Given the description of an element on the screen output the (x, y) to click on. 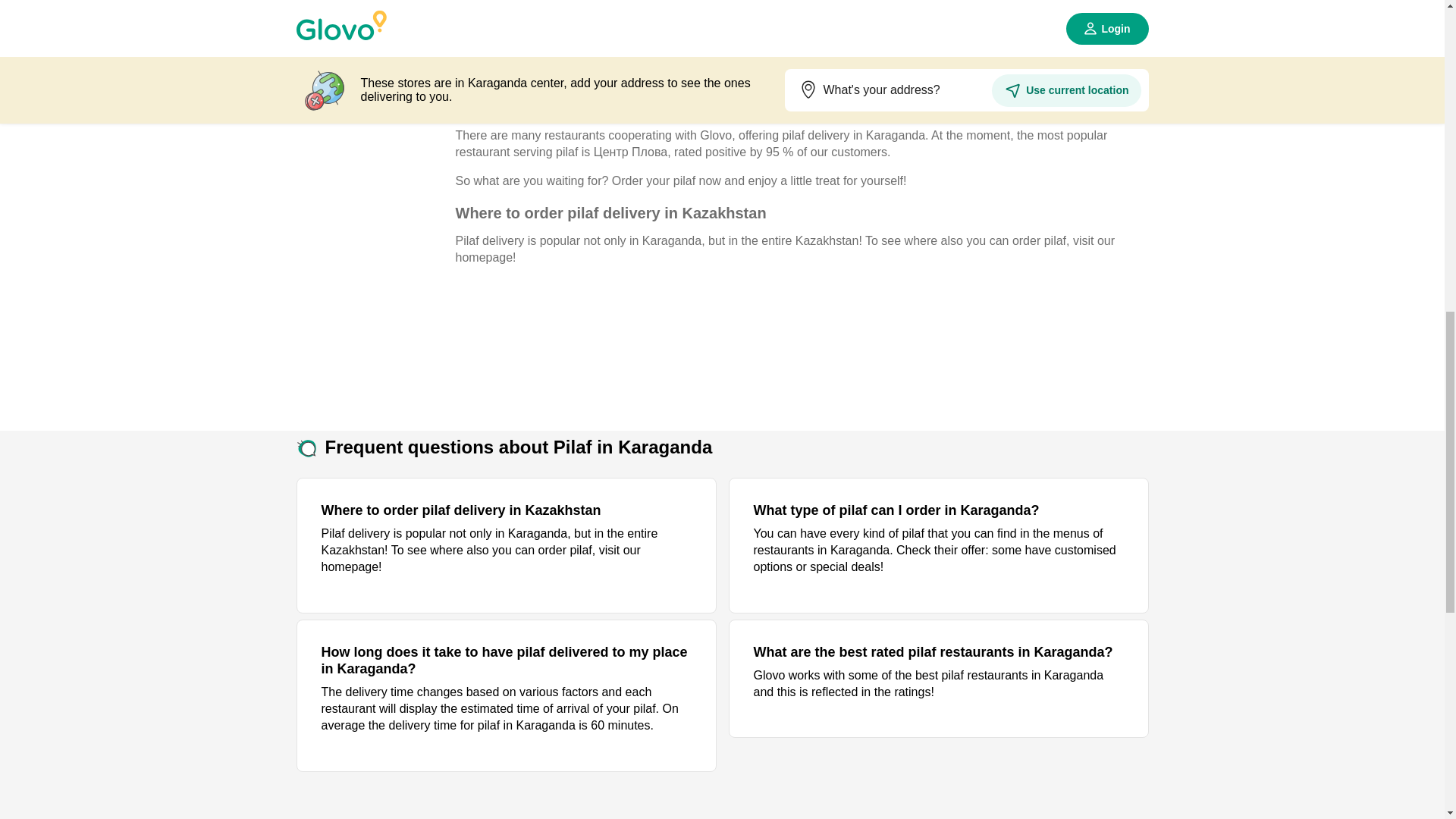
Halal (368, 102)
Salads (368, 511)
Grill (368, 65)
Pasta (368, 363)
Pilaf (368, 400)
Meat (368, 288)
Soup (368, 586)
Kebab (368, 251)
Fish (368, 2)
Traditional (368, 734)
Kazakh (368, 214)
Georgian (368, 28)
Pizza (368, 437)
Sushi (368, 660)
Japanese (368, 177)
